Given the description of an element on the screen output the (x, y) to click on. 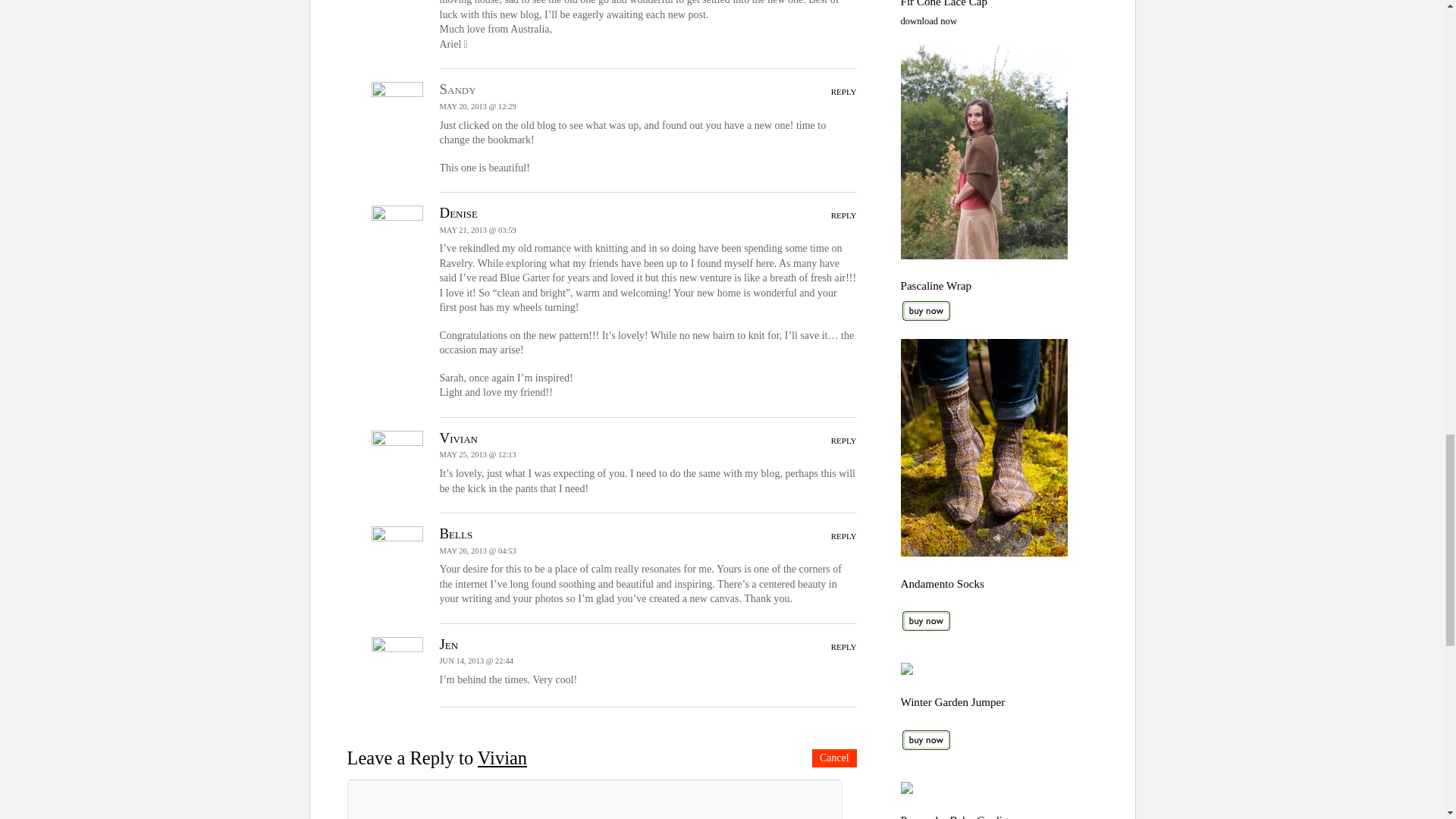
REPLY (844, 440)
Bells (456, 533)
Vivian (458, 437)
REPLY (844, 646)
Jen (448, 643)
Cancel (834, 758)
REPLY (844, 91)
REPLY (844, 215)
REPLY (844, 535)
Vivian (502, 757)
